Given the description of an element on the screen output the (x, y) to click on. 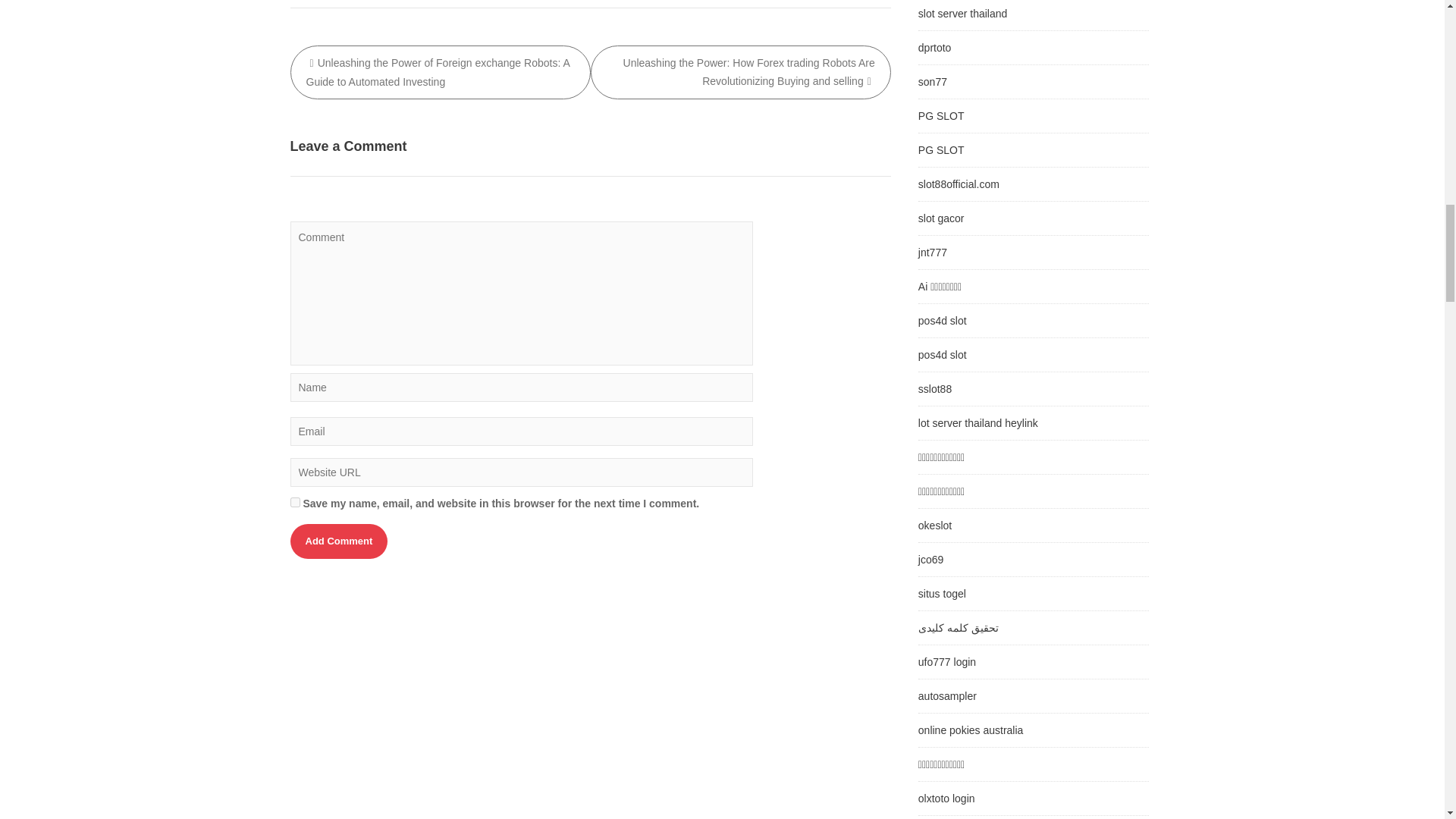
yes (294, 501)
Add Comment (338, 541)
Add Comment (338, 541)
